Given the description of an element on the screen output the (x, y) to click on. 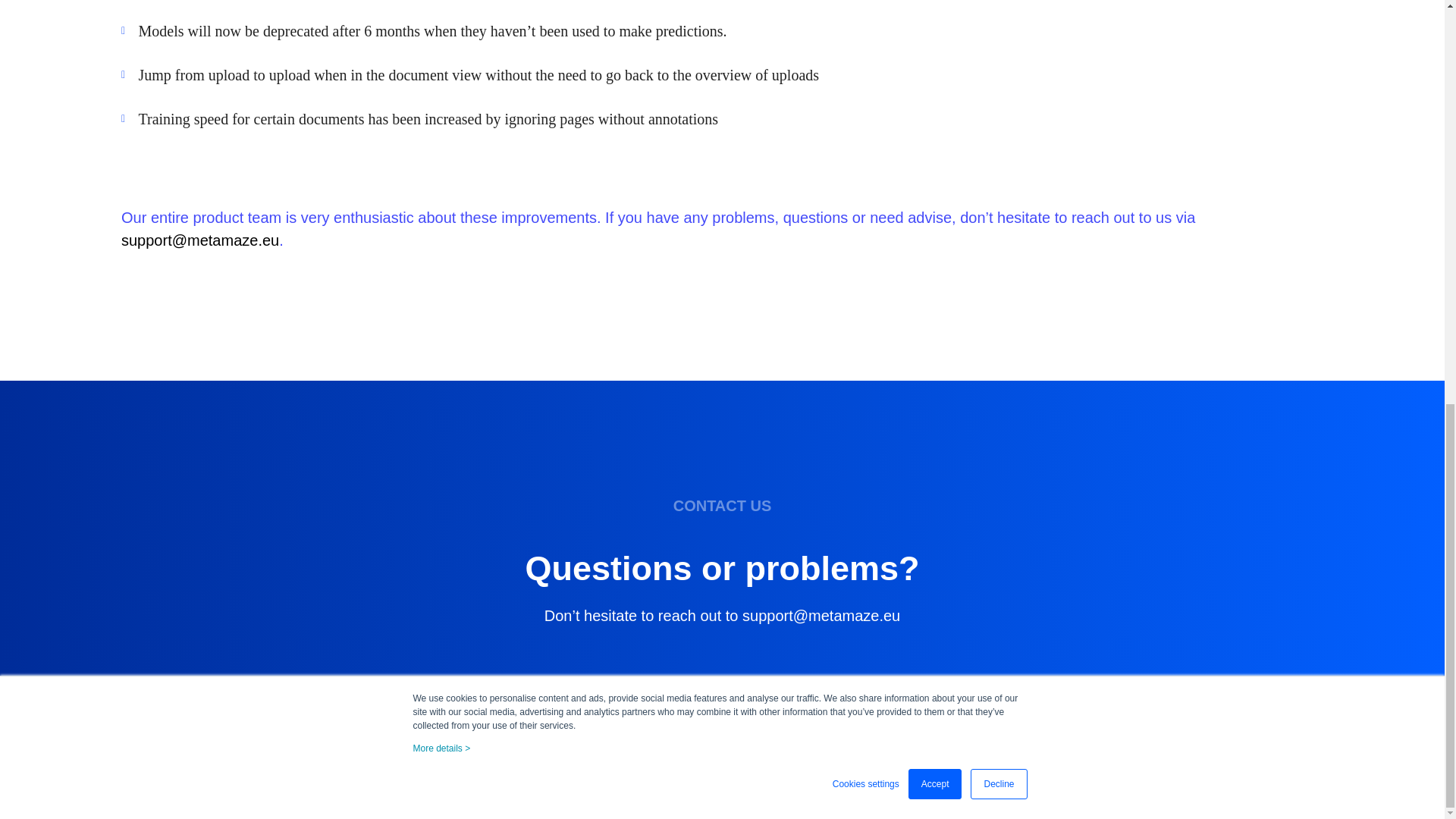
PRIVACY (706, 766)
Accept (935, 1)
LEGAL (899, 766)
Decline (998, 1)
